Given the description of an element on the screen output the (x, y) to click on. 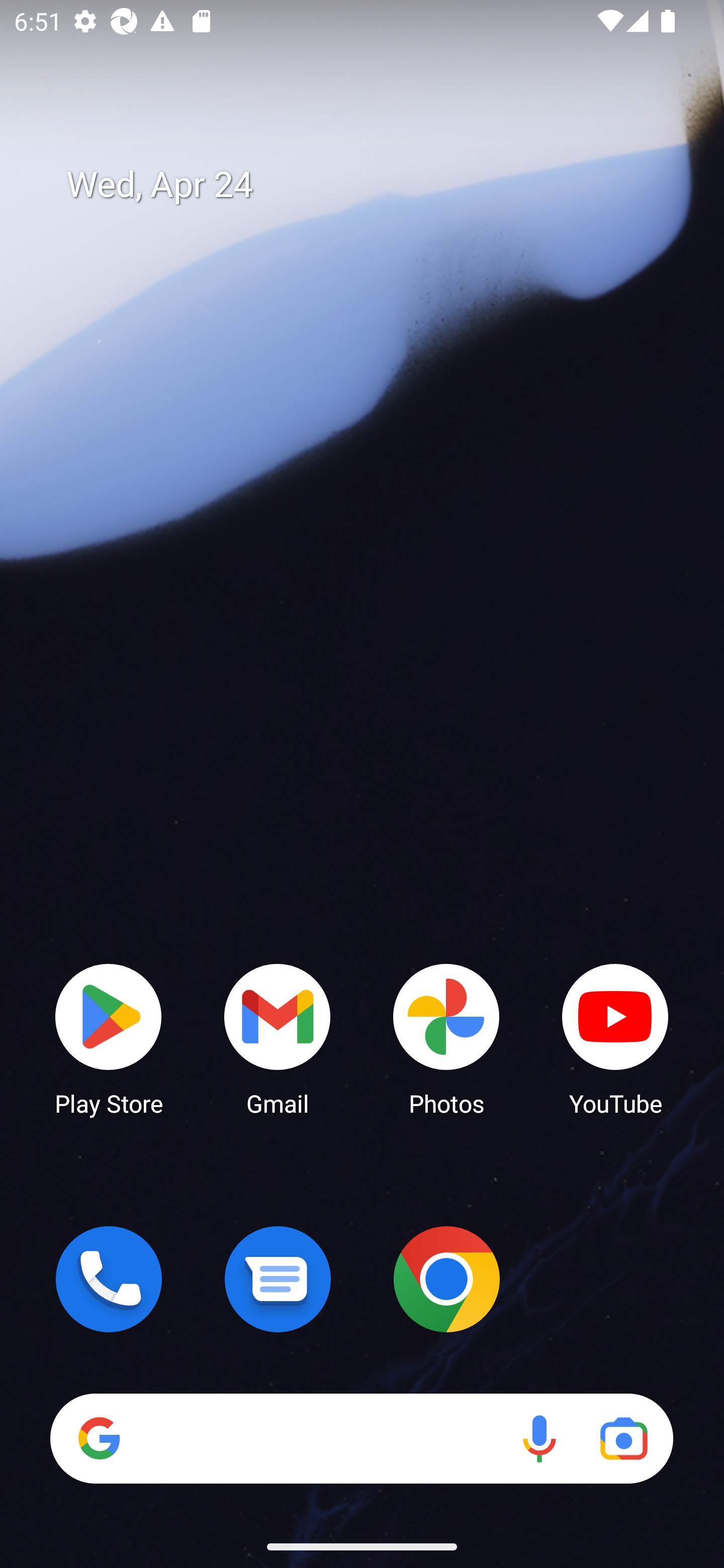
Wed, Apr 24 (375, 184)
Play Store (108, 1038)
Gmail (277, 1038)
Photos (445, 1038)
YouTube (615, 1038)
Phone (108, 1279)
Messages (277, 1279)
Chrome (446, 1279)
Search Voice search Google Lens (361, 1438)
Voice search (539, 1438)
Google Lens (623, 1438)
